Given the description of an element on the screen output the (x, y) to click on. 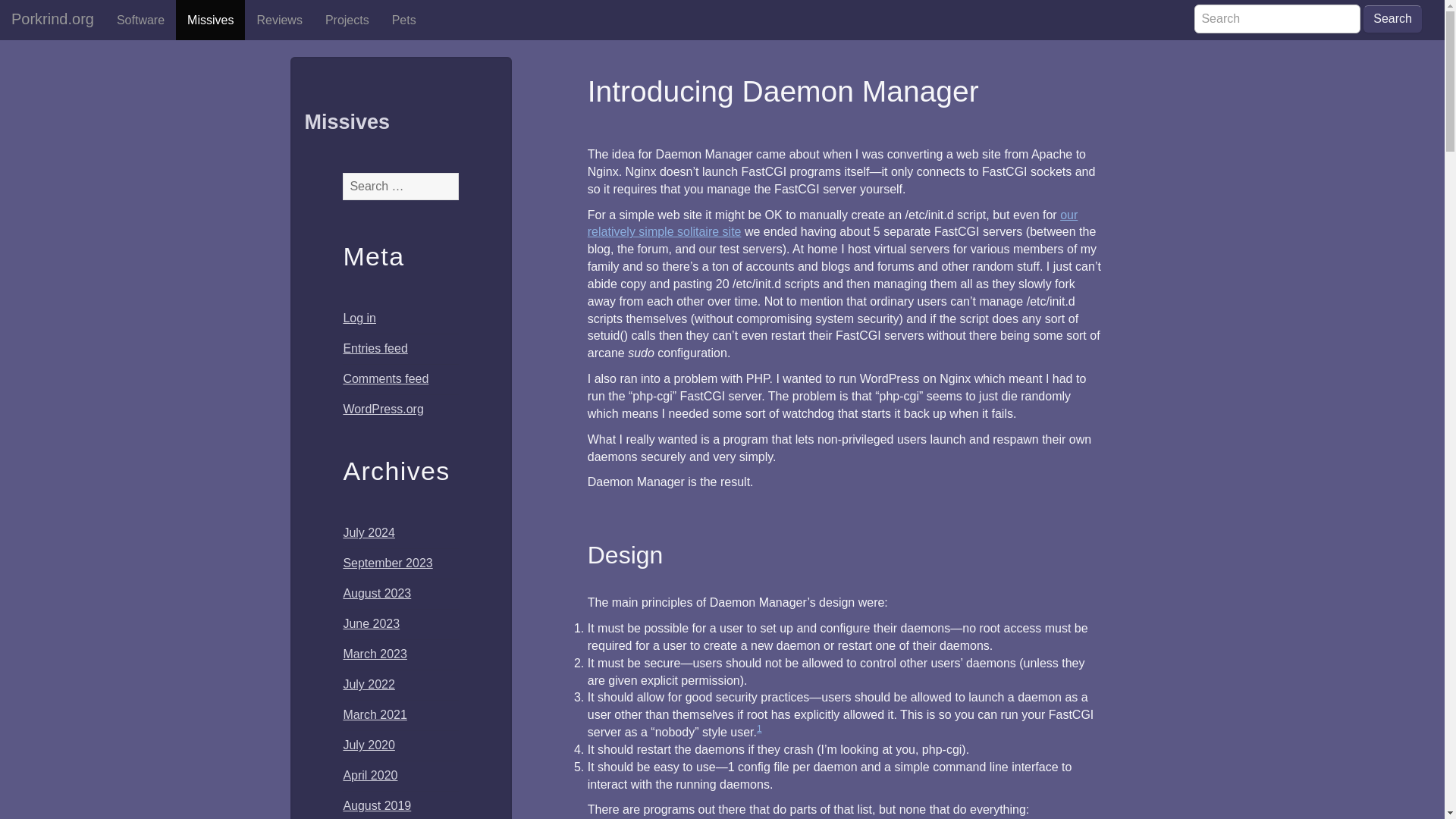
Comments feed (385, 378)
WordPress.org (382, 408)
Reviews (278, 20)
Missives (210, 20)
Entries feed (374, 348)
July 2020 (368, 744)
Search (1392, 18)
Pets (404, 20)
September 2023 (387, 562)
Projects (347, 20)
Porkrind.org (52, 18)
Log in (358, 318)
March 2021 (374, 714)
July 2022 (368, 684)
